Given the description of an element on the screen output the (x, y) to click on. 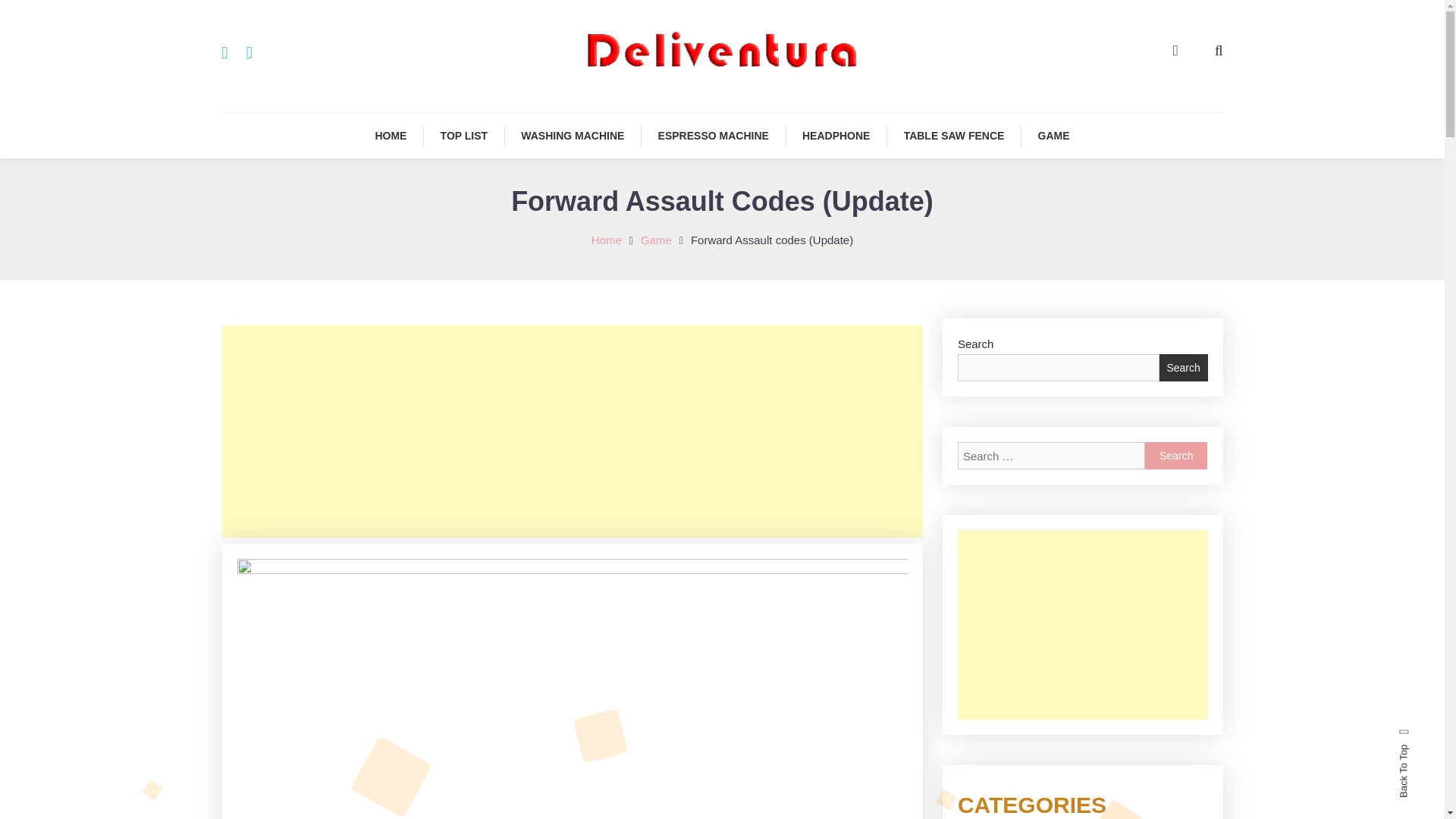
GAME (1053, 135)
Search (1175, 455)
TABLE SAW FENCE (954, 135)
Home (606, 239)
ESPRESSO MACHINE (713, 135)
Search (1175, 455)
Advertisement (1083, 624)
HEADPHONE (836, 135)
HOME (390, 135)
Search (768, 432)
Game (655, 239)
WASHING MACHINE (572, 135)
TOP LIST (464, 135)
